Given the description of an element on the screen output the (x, y) to click on. 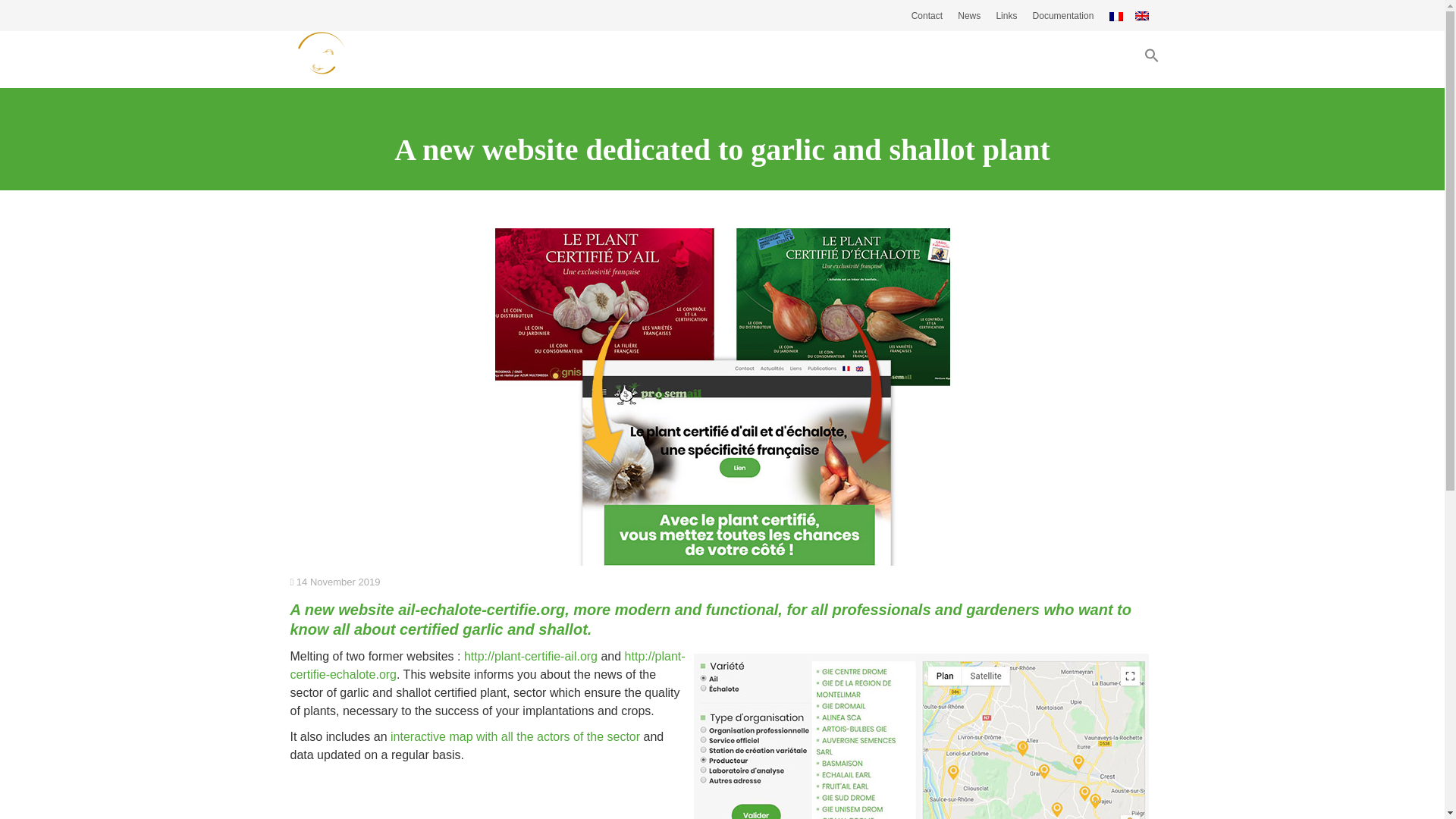
News (968, 15)
Links (1005, 15)
CERTIFIED PLANTS (900, 59)
interactive map with all the actors of the sector (515, 736)
SHALLOT (757, 59)
Contact (926, 15)
GARLIC (652, 59)
Documentation (1063, 15)
ail-echalote-certifie.org (480, 609)
